Given the description of an element on the screen output the (x, y) to click on. 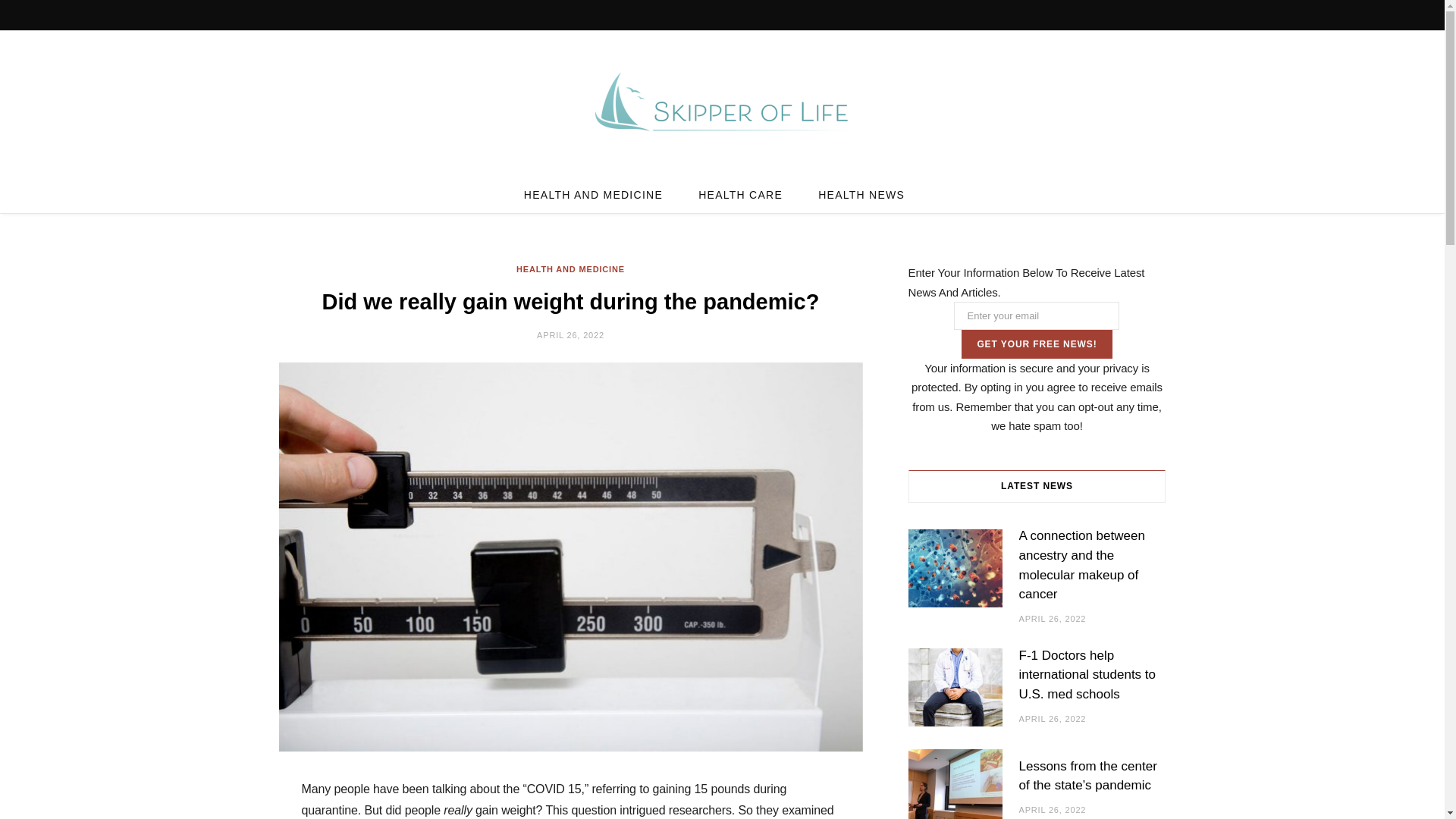
Get Your Free News! (1036, 344)
HEALTH NEWS (861, 194)
APRIL 26, 2022 (570, 334)
HEALTH AND MEDICINE (570, 269)
APRIL 26, 2022 (1052, 618)
Get Your Free News! (1036, 344)
HEALTH CARE (739, 194)
Enter your email (1036, 316)
